Given the description of an element on the screen output the (x, y) to click on. 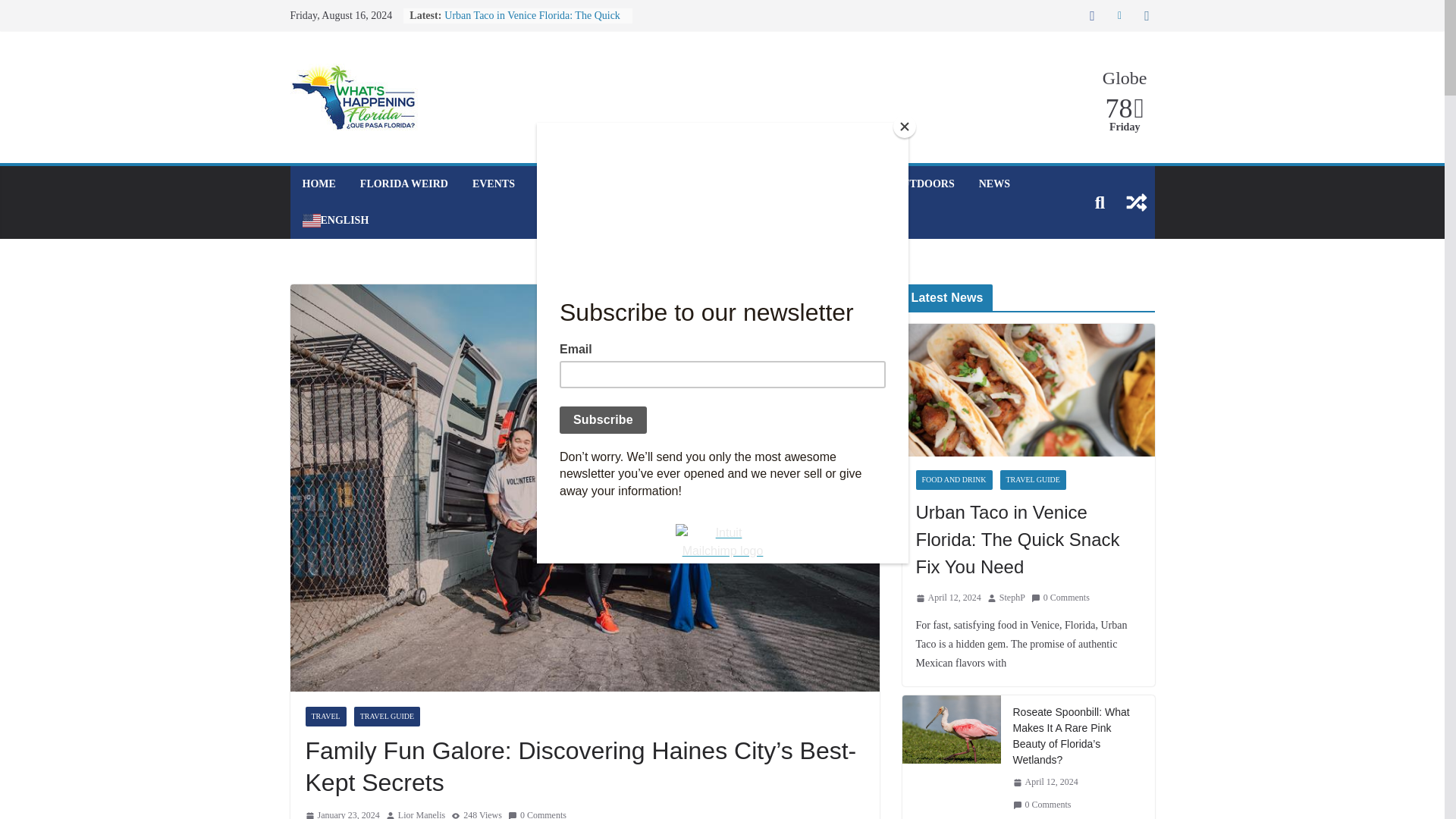
OUTDOORS (924, 183)
4:03 pm (948, 597)
Urban Taco in Venice Florida: The Quick Snack Fix You Need (532, 22)
1:00 pm (341, 813)
LUXURY (779, 183)
0 Comments (537, 813)
January 23, 2024 (341, 813)
Urban Taco in Venice Florida: The Quick Snack Fix You Need (532, 22)
ENGLISH (334, 219)
